Given the description of an element on the screen output the (x, y) to click on. 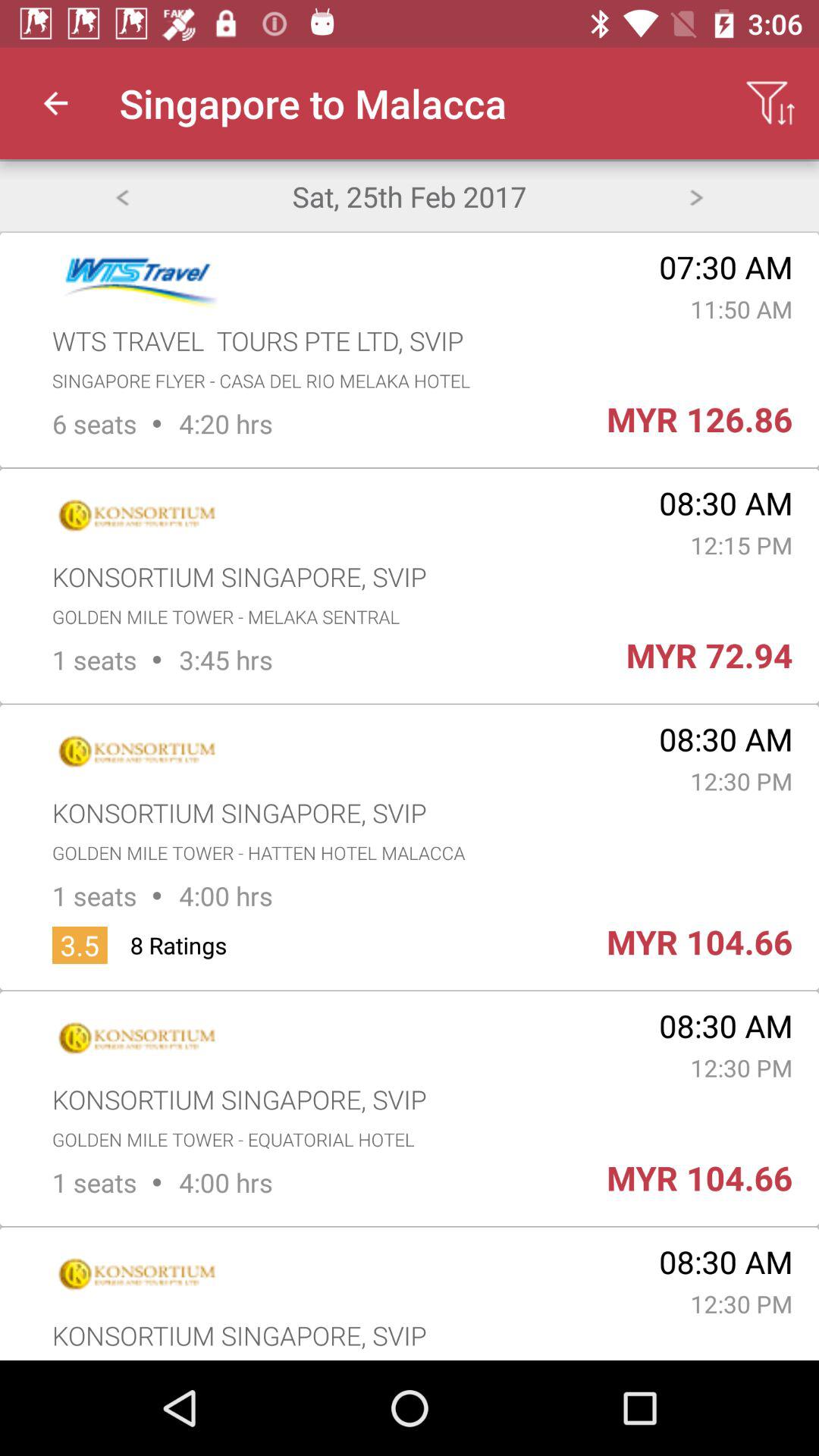
go to next page (696, 196)
